Given the description of an element on the screen output the (x, y) to click on. 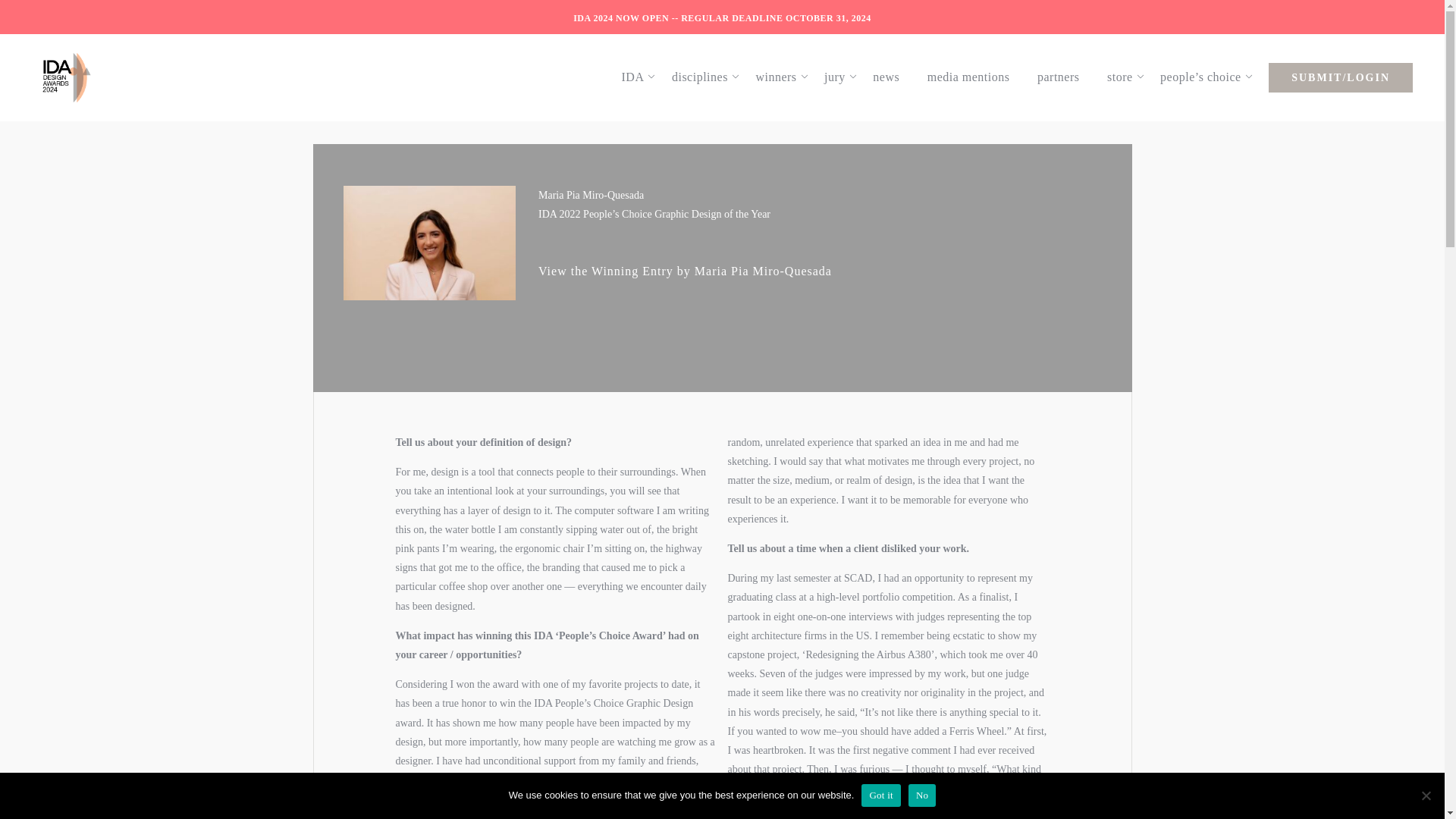
IDA International Design Awards 2023 Logo (66, 77)
No (1425, 795)
jury (842, 76)
store (1127, 76)
partners (1065, 76)
IDA (640, 76)
disciplines (706, 76)
winners (782, 76)
media mentions (976, 76)
news (893, 76)
View the Winning Entry by Maria Pia Miro-Quesada (684, 270)
